Given the description of an element on the screen output the (x, y) to click on. 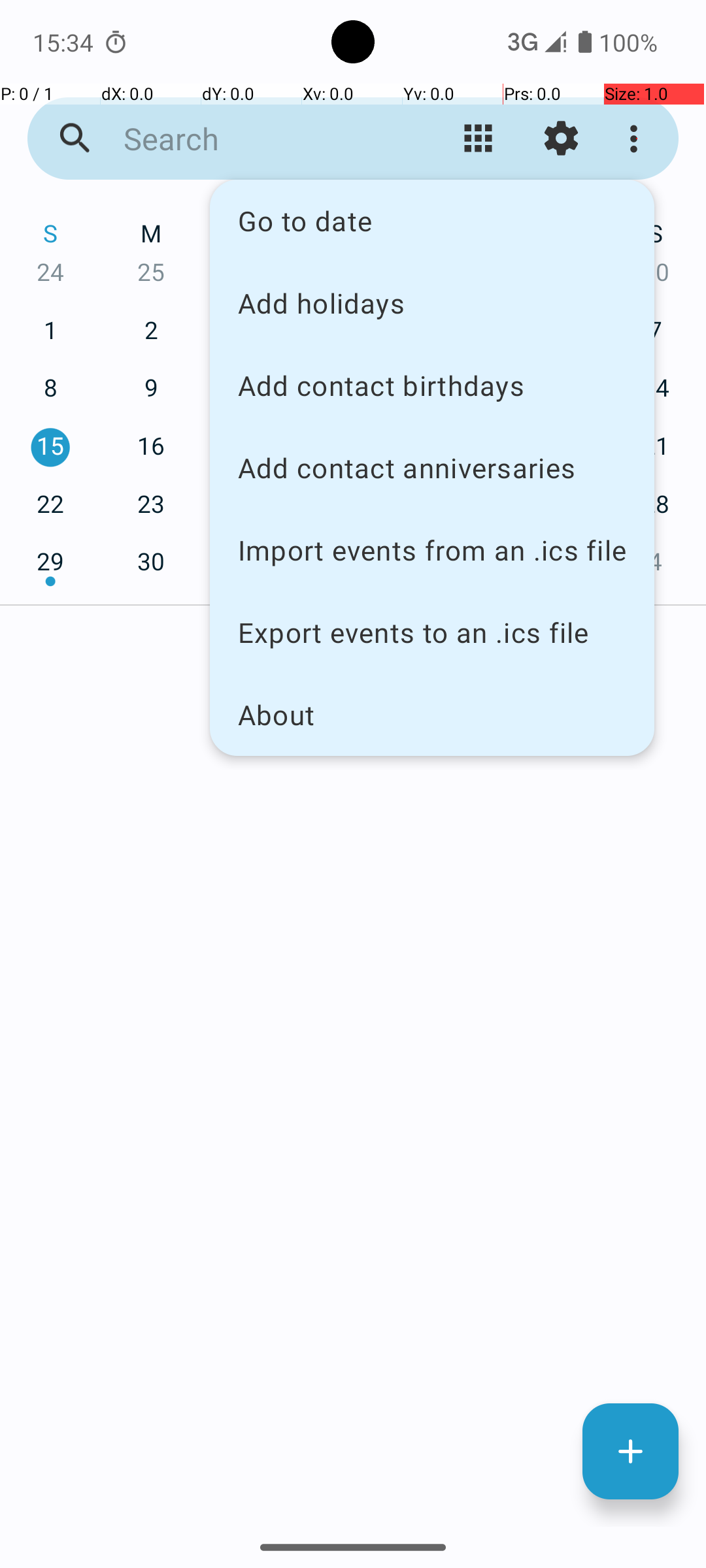
Go to date Element type: android.widget.TextView (431, 220)
Add holidays Element type: android.widget.TextView (431, 302)
Add contact birthdays Element type: android.widget.TextView (431, 384)
Add contact anniversaries Element type: android.widget.TextView (431, 467)
Import events from an .ics file Element type: android.widget.TextView (431, 549)
Export events to an .ics file Element type: android.widget.TextView (431, 631)
